Given the description of an element on the screen output the (x, y) to click on. 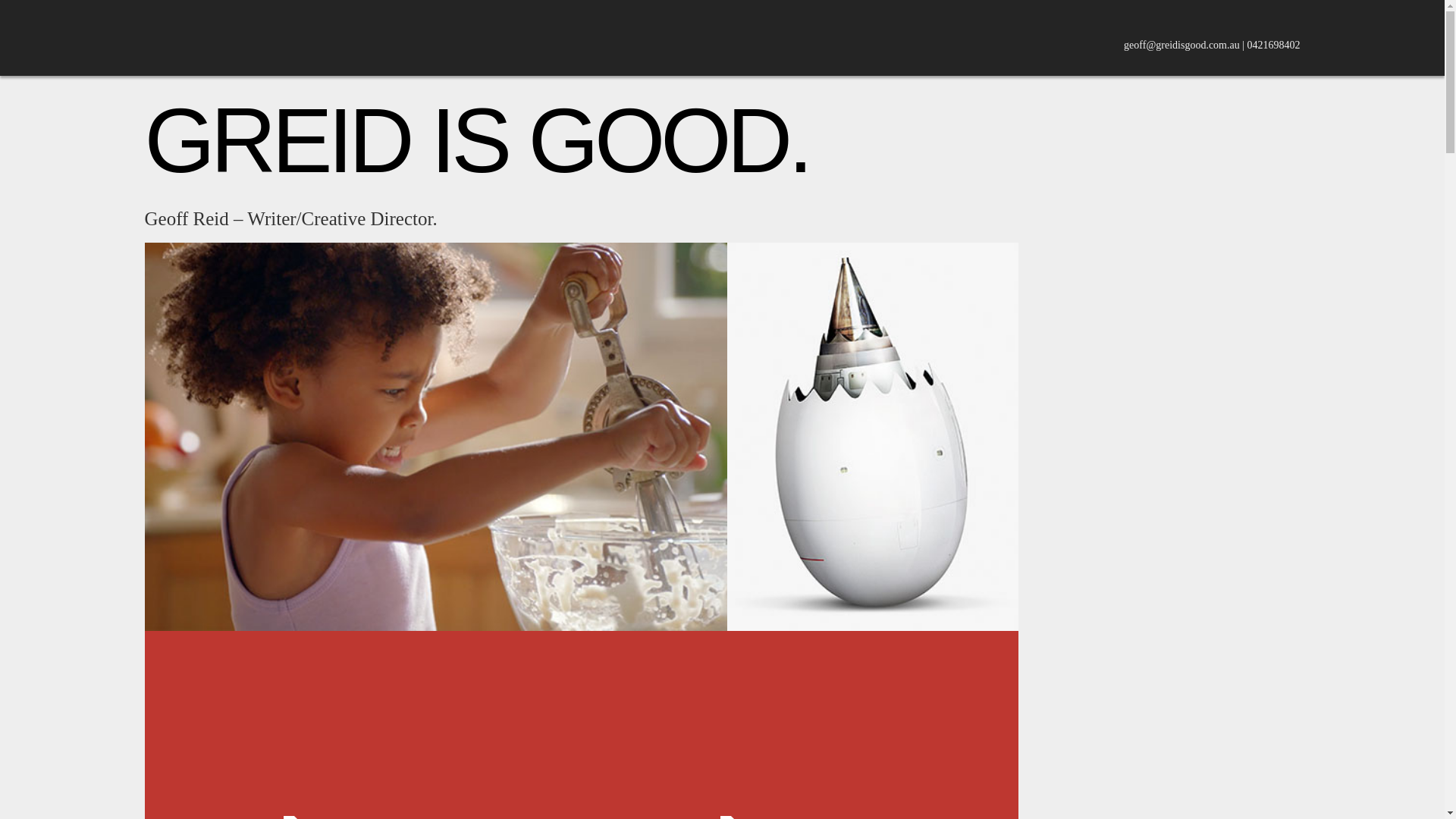
geoff@greidisgood.com.au | 0421698402 Element type: text (1211, 44)
